Given the description of an element on the screen output the (x, y) to click on. 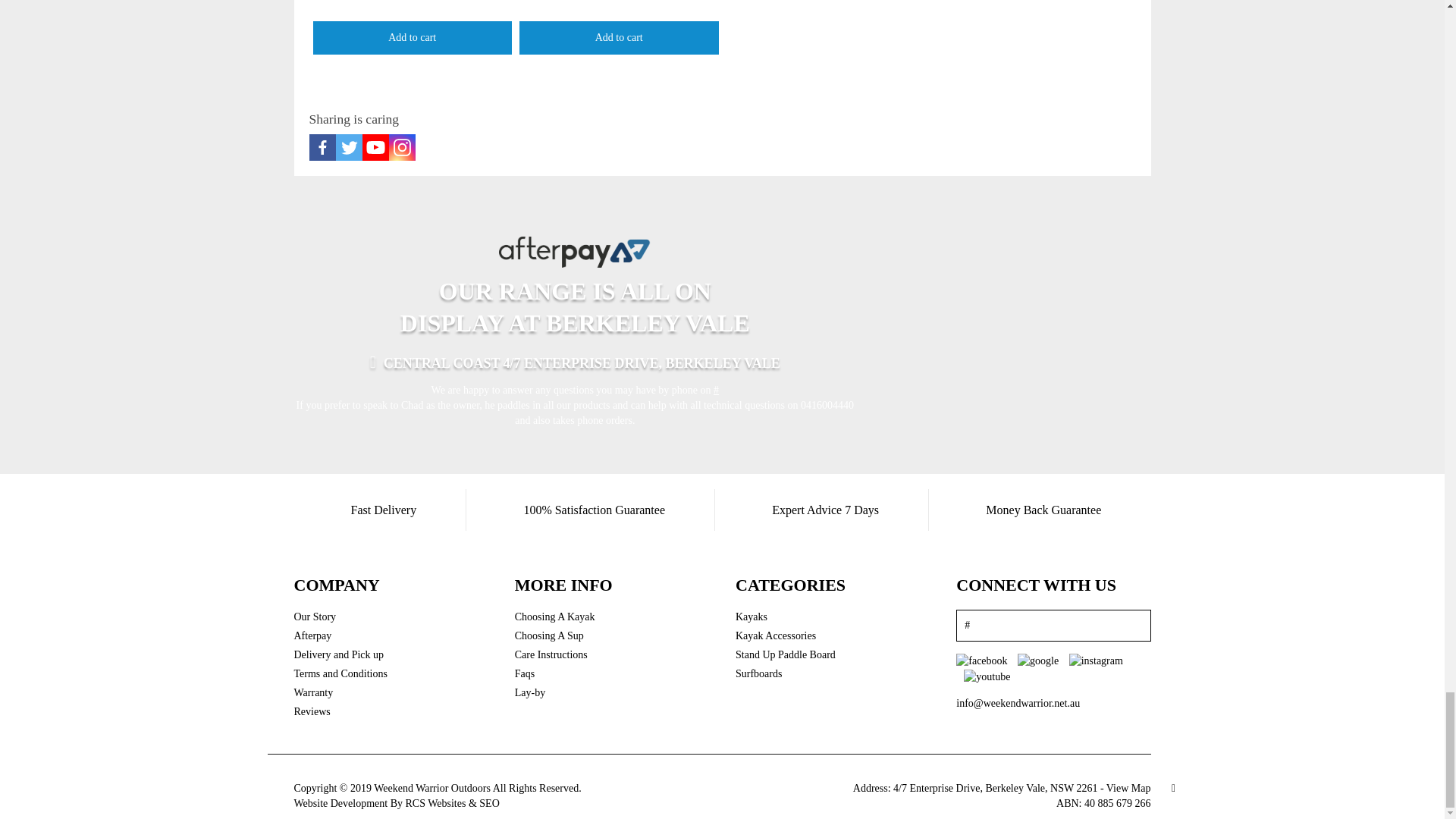
Facebook (322, 147)
Twitter (347, 147)
